Given the description of an element on the screen output the (x, y) to click on. 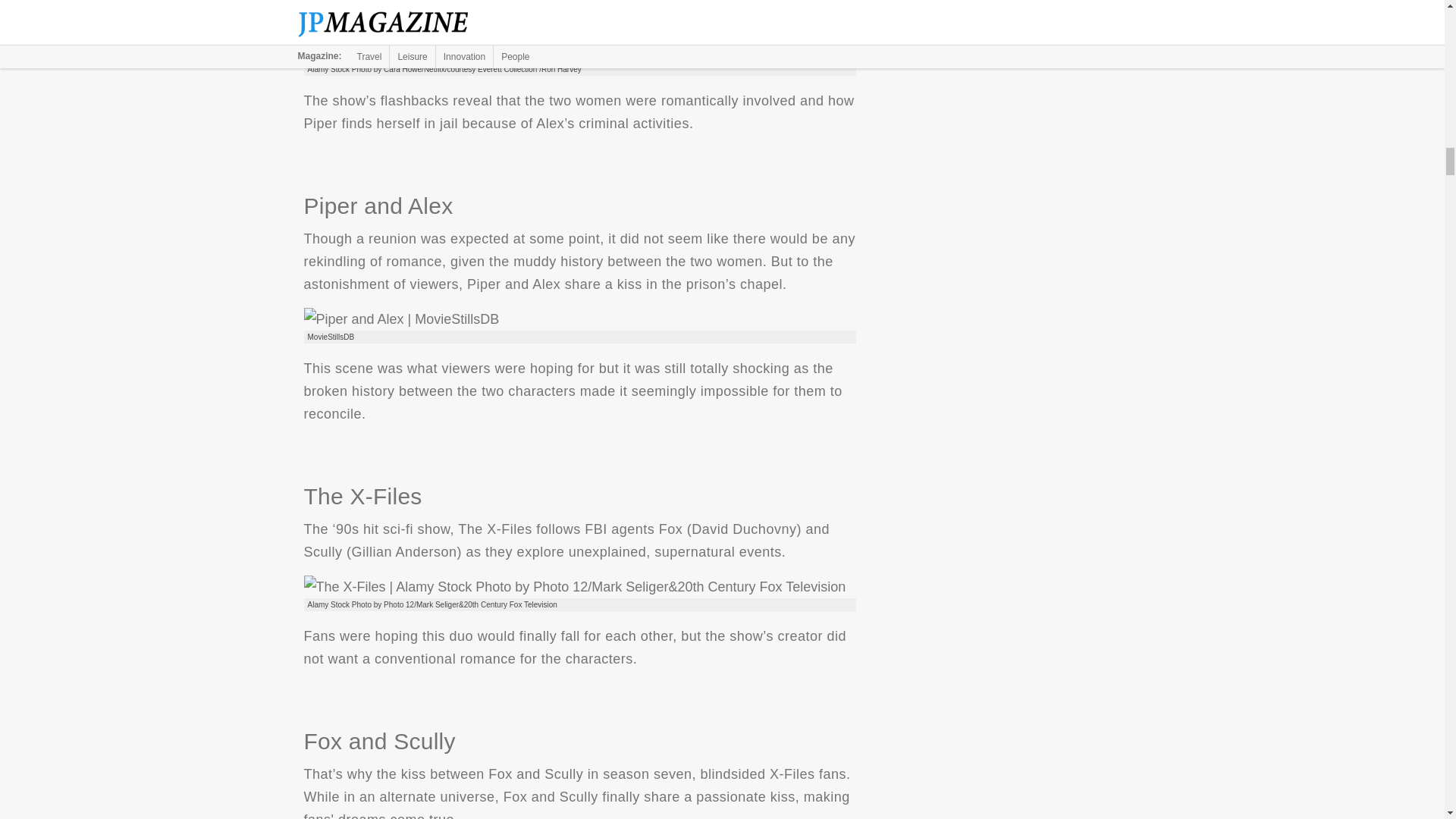
The X-Files (573, 586)
Orange Is the New Black (579, 40)
Piper and Alex (400, 318)
